Given the description of an element on the screen output the (x, y) to click on. 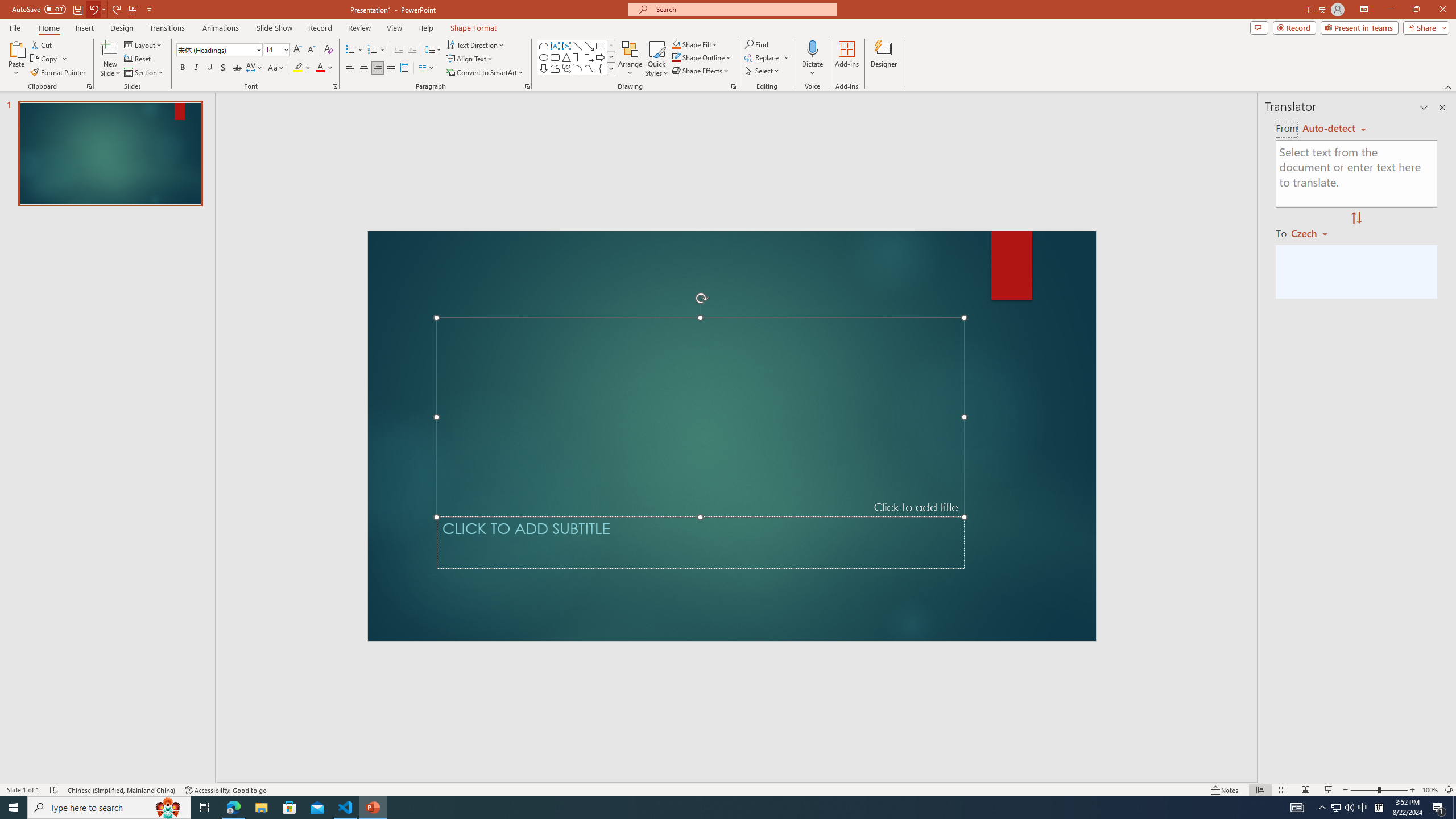
Auto-detect (1334, 128)
